Given the description of an element on the screen output the (x, y) to click on. 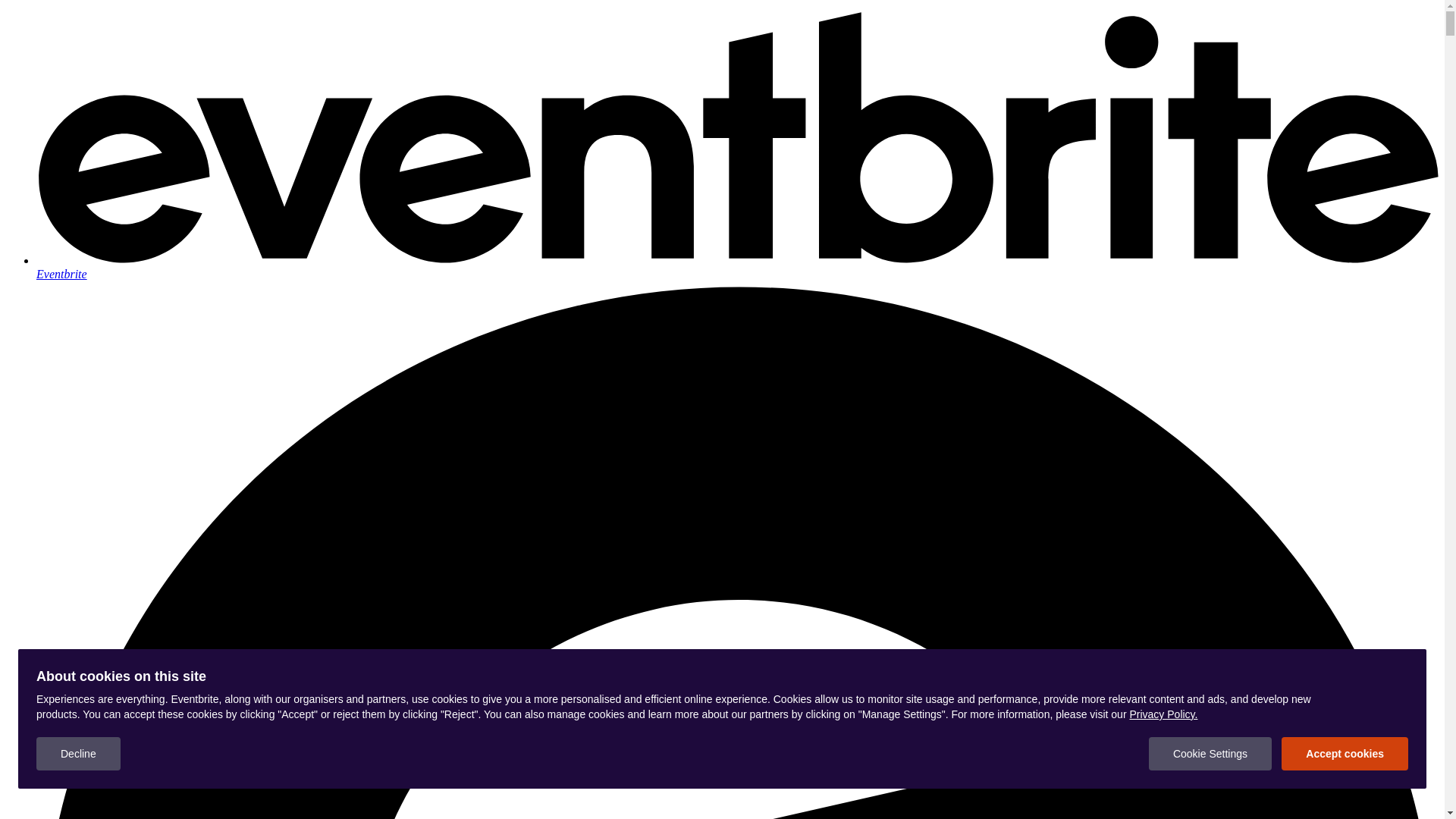
Cookie Settings Element type: text (1209, 753)
Decline Element type: text (78, 753)
Eventbrite Element type: text (737, 267)
Privacy Policy. Element type: text (1163, 714)
Accept cookies Element type: text (1344, 753)
